Given the description of an element on the screen output the (x, y) to click on. 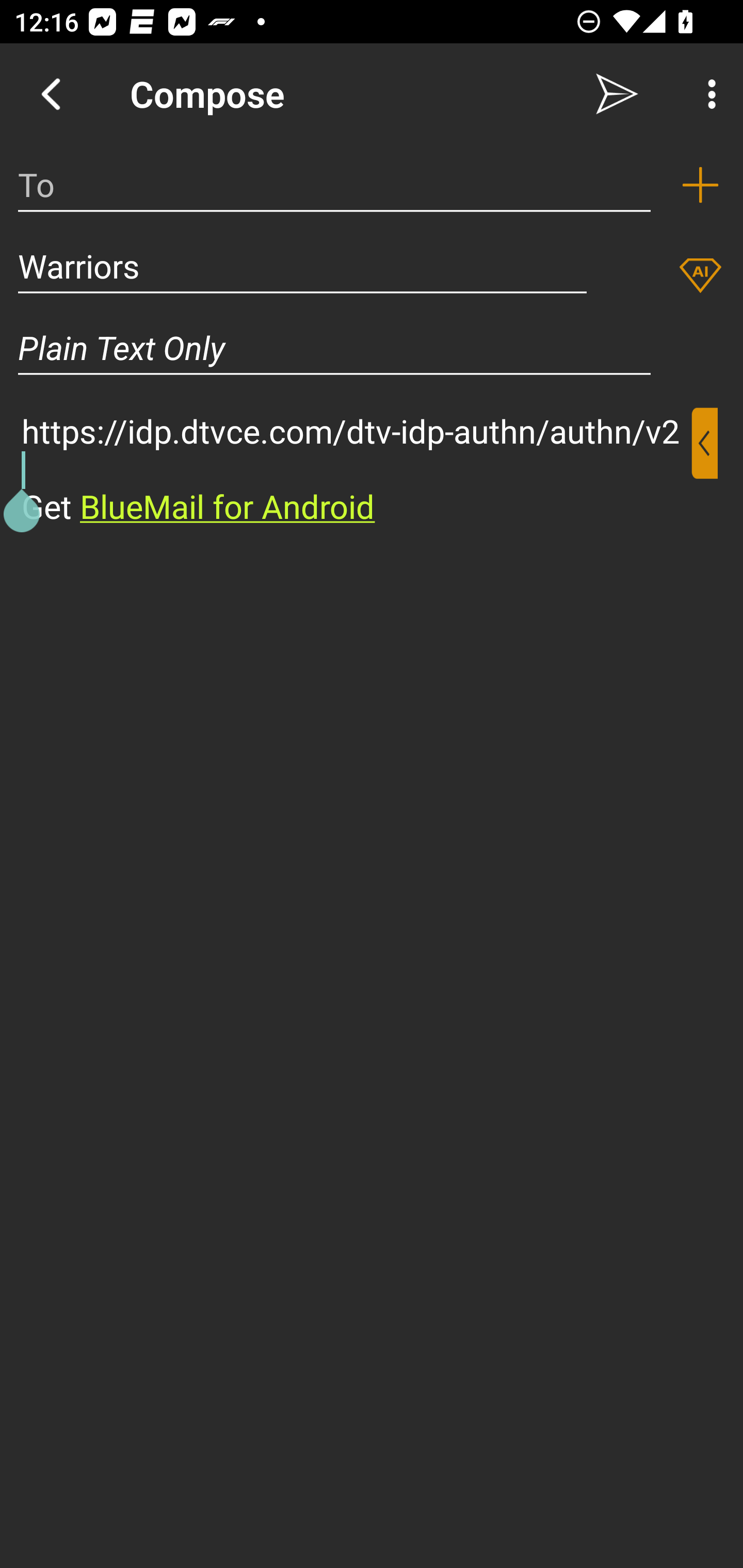
Navigate up (50, 93)
Send (616, 93)
More Options (706, 93)
To (334, 184)
Add recipient (To) (699, 184)
Warriors (302, 266)
Plain Text Only (371, 347)
